Given the description of an element on the screen output the (x, y) to click on. 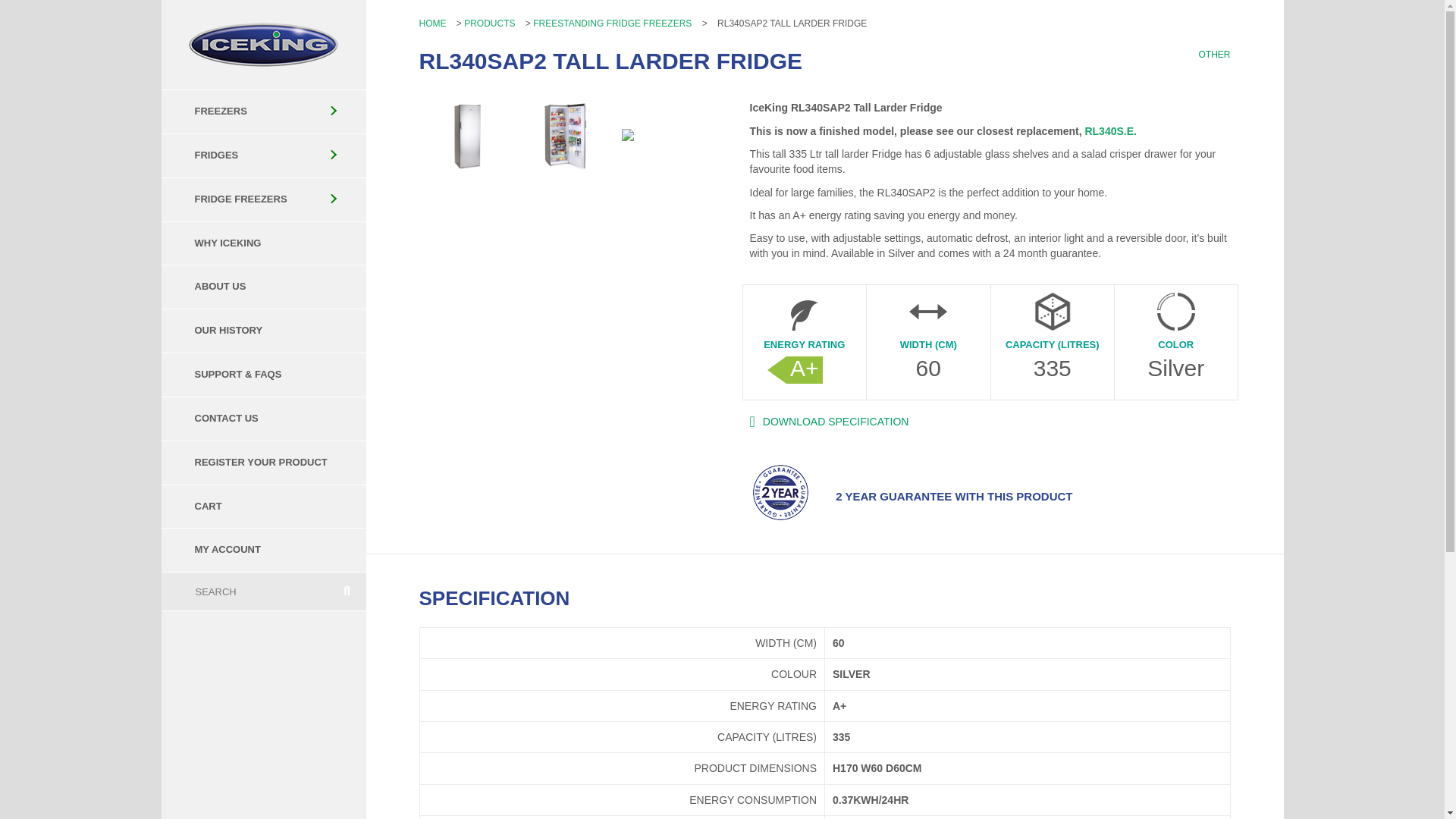
CART (262, 506)
FRIDGES (262, 155)
OUR HISTORY (262, 330)
Search (243, 591)
ABOUT US (262, 286)
WHY ICEKING (262, 243)
MY ACCOUNT (262, 550)
iceking (263, 44)
2year (779, 492)
REGISTER YOUR PRODUCT (262, 462)
FRIDGE FREEZERS (262, 199)
CONTACT US (262, 418)
FREEZERS (262, 111)
